Given the description of an element on the screen output the (x, y) to click on. 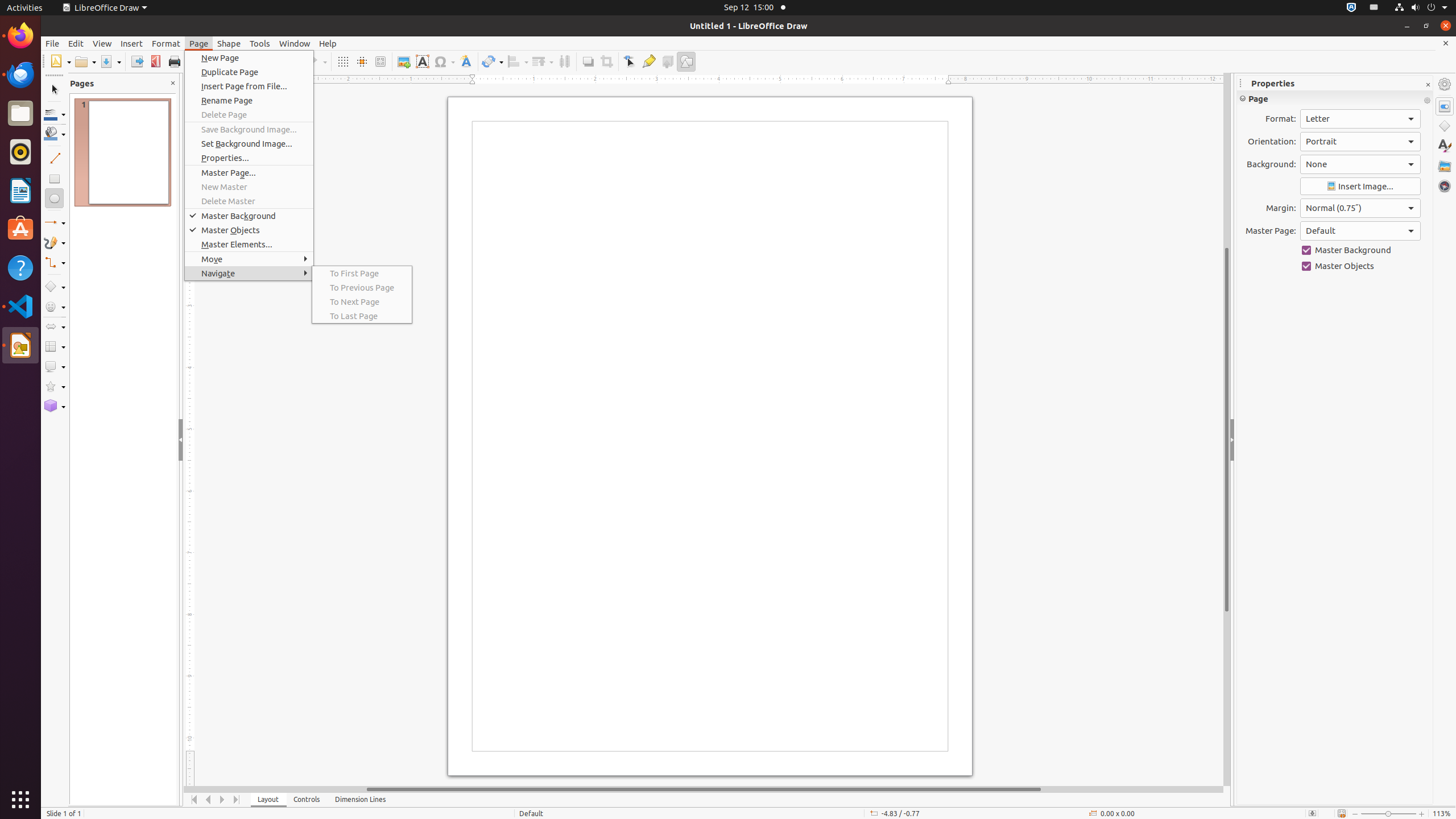
Show Applications Element type: toggle-button (20, 799)
Navigator Element type: radio-button (1444, 185)
Transformations Element type: push-button (492, 61)
Delete Page Element type: menu-item (248, 114)
Insert Page from File... Element type: menu-item (248, 86)
